Given the description of an element on the screen output the (x, y) to click on. 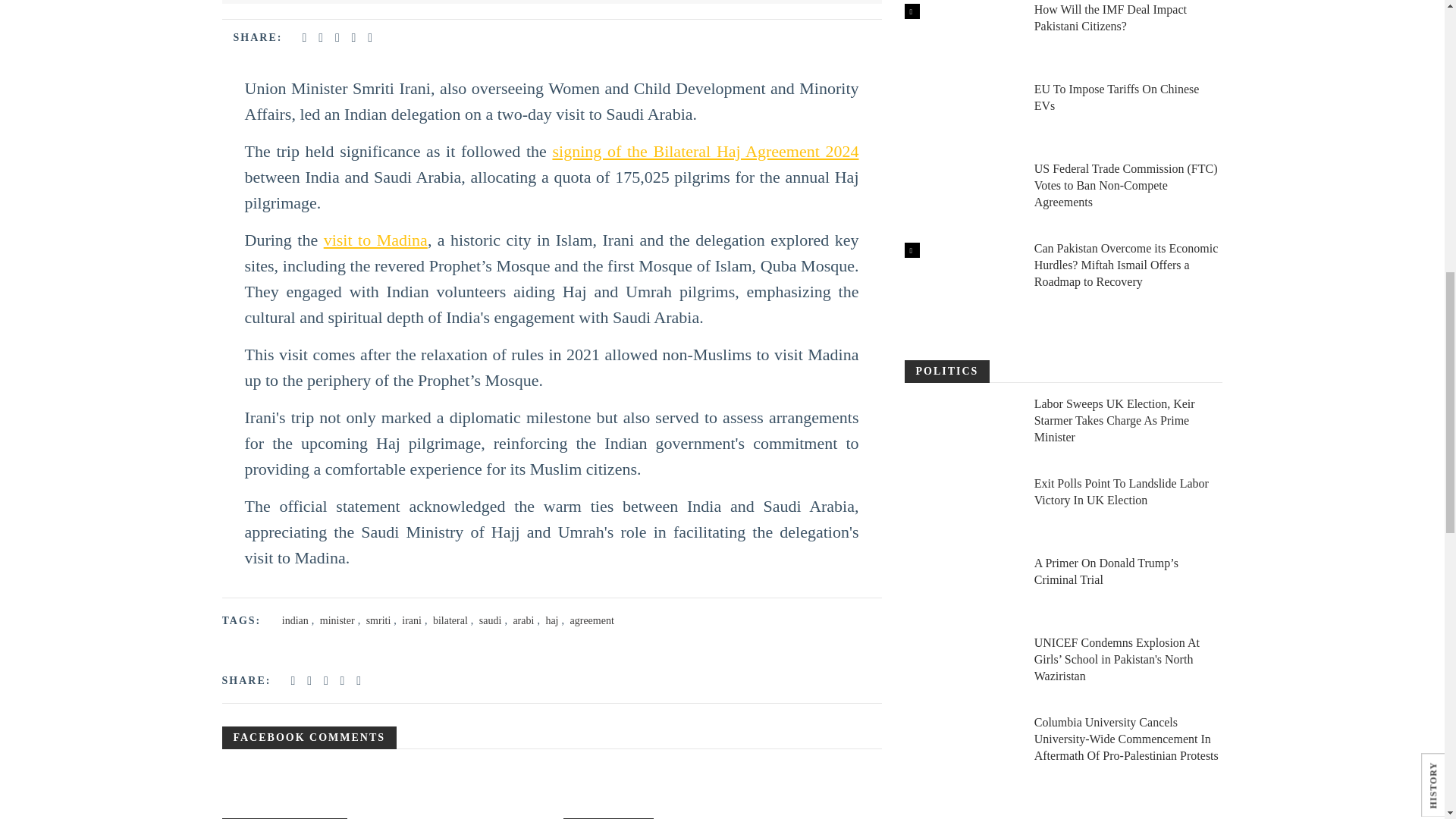
indian (295, 620)
EU To Impose Tariffs On Chinese EVs (960, 115)
How Will the IMF Deal Impact Pakistani Citizens?  (960, 35)
minister (337, 620)
visit to Madina (375, 239)
signing of the Bilateral Haj Agreement 2024 (705, 150)
